Given the description of an element on the screen output the (x, y) to click on. 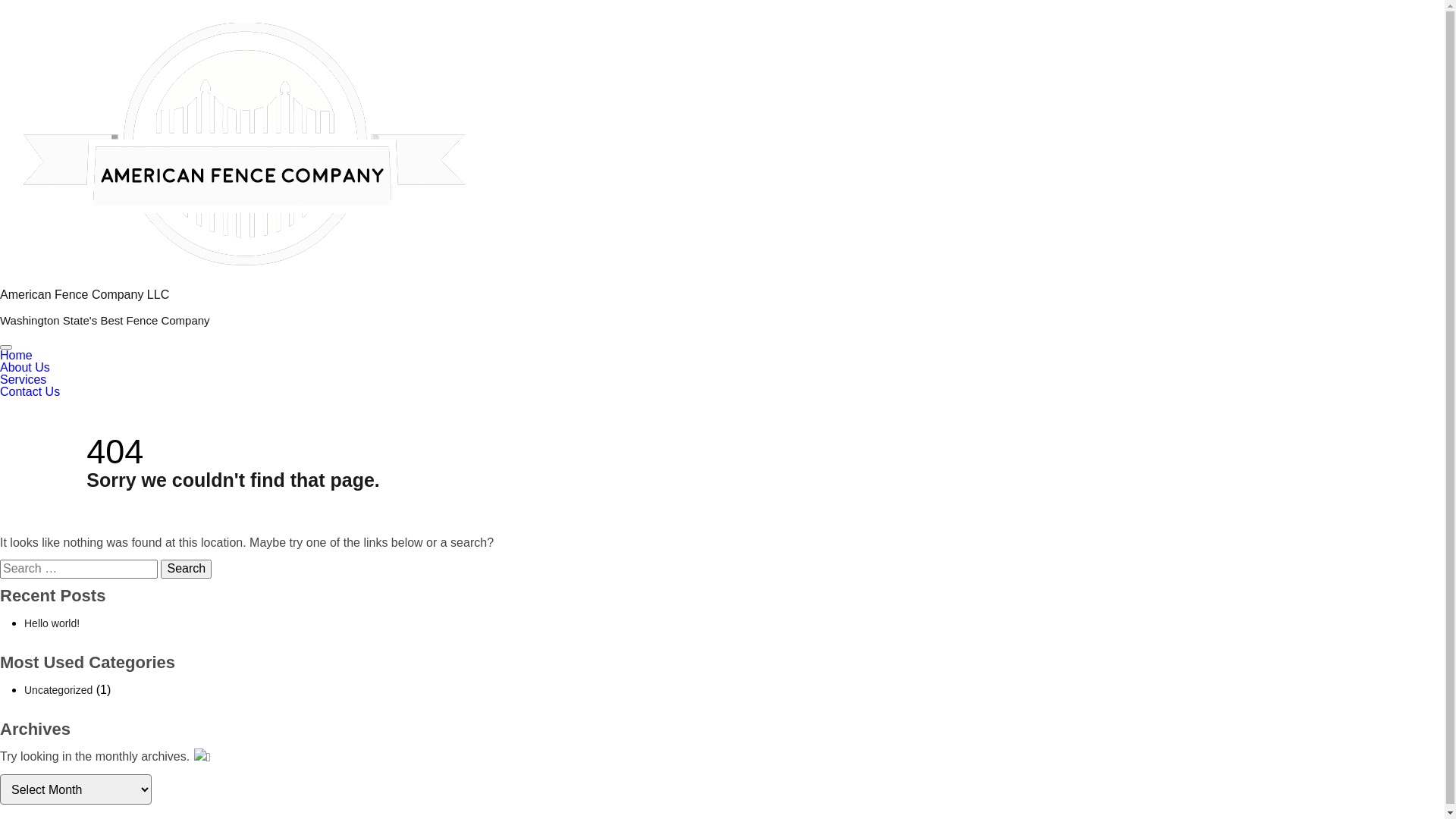
Services Element type: text (23, 379)
About Us Element type: text (25, 366)
Uncategorized Element type: text (58, 690)
Contact Us Element type: text (29, 391)
Search Element type: text (185, 568)
Home Element type: text (16, 354)
American Fence Company LLC Element type: text (84, 294)
Hello world! Element type: text (51, 623)
